Given the description of an element on the screen output the (x, y) to click on. 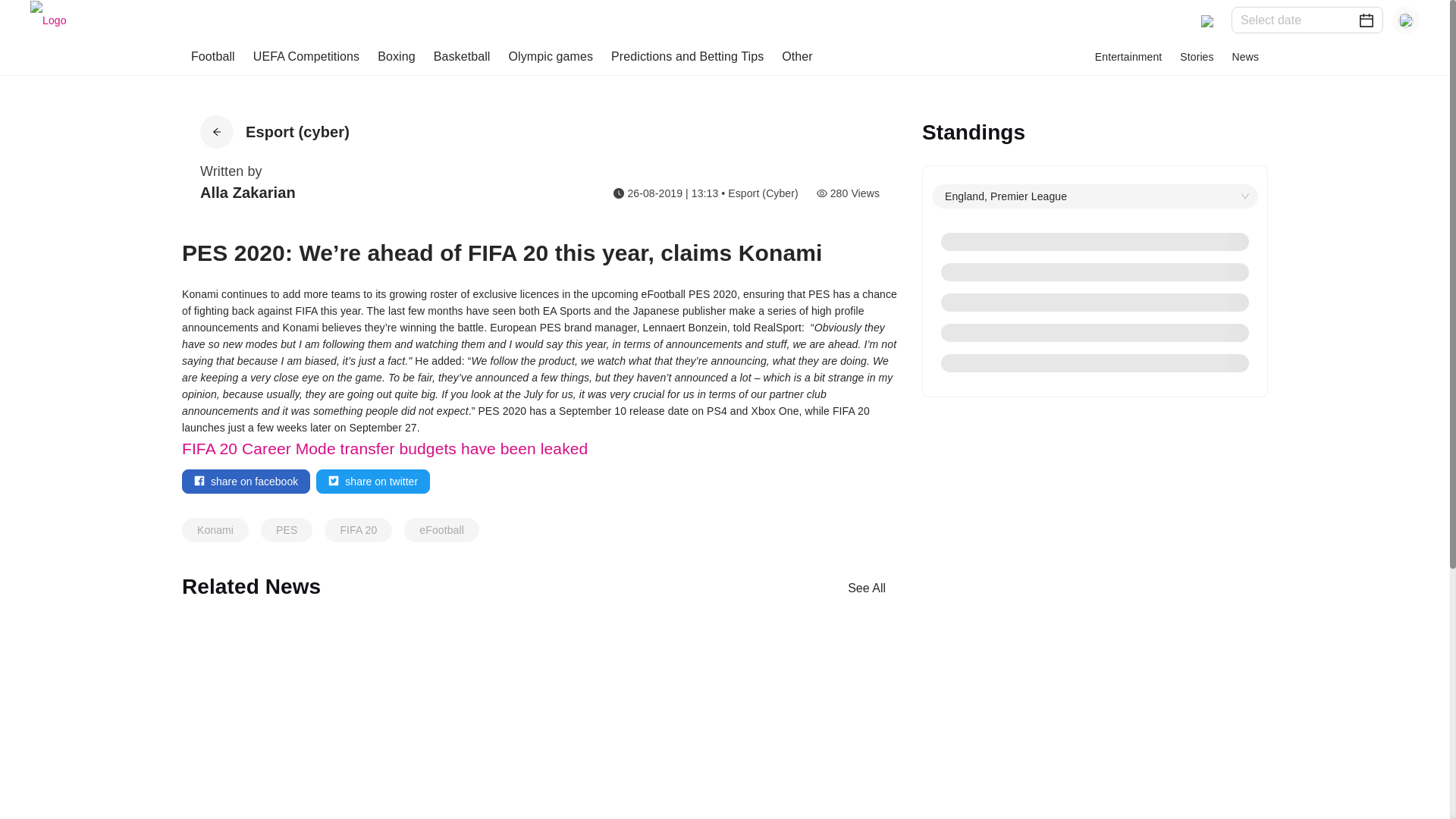
England, Premier League (1094, 196)
share on facebook (246, 481)
See All (866, 586)
FIFA 20 (357, 529)
FIFA 20 Career Mode transfer budgets have been leaked (385, 448)
Konami (215, 529)
PES (285, 529)
eFootball (441, 529)
share on twitter (372, 481)
